Given the description of an element on the screen output the (x, y) to click on. 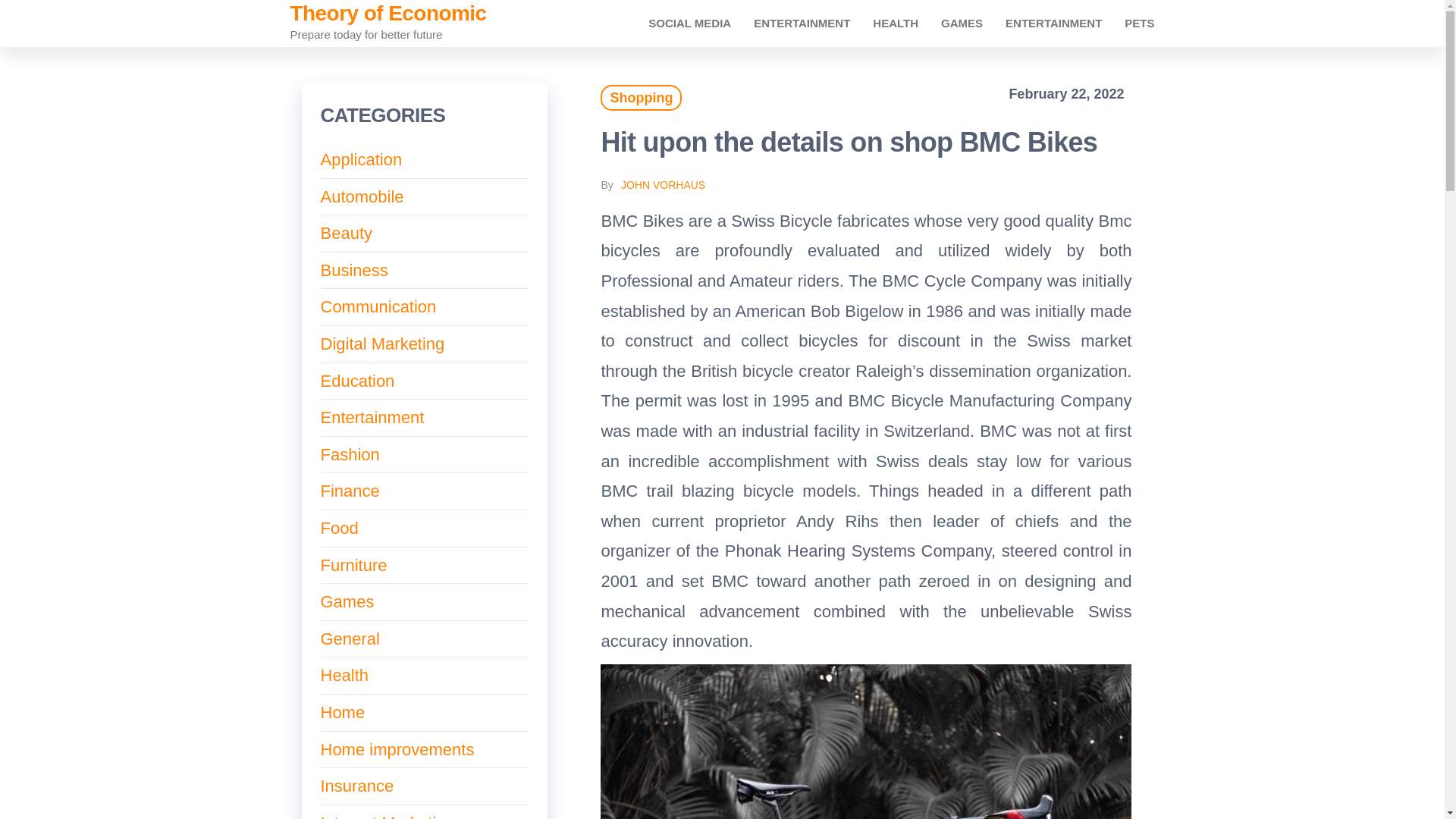
Education (357, 380)
GAMES (962, 22)
Entertainment (1053, 22)
Health (895, 22)
Food (339, 527)
Digital Marketing (382, 343)
PETS (1139, 22)
Communication (377, 306)
Beauty (346, 232)
Health (344, 674)
